Given the description of an element on the screen output the (x, y) to click on. 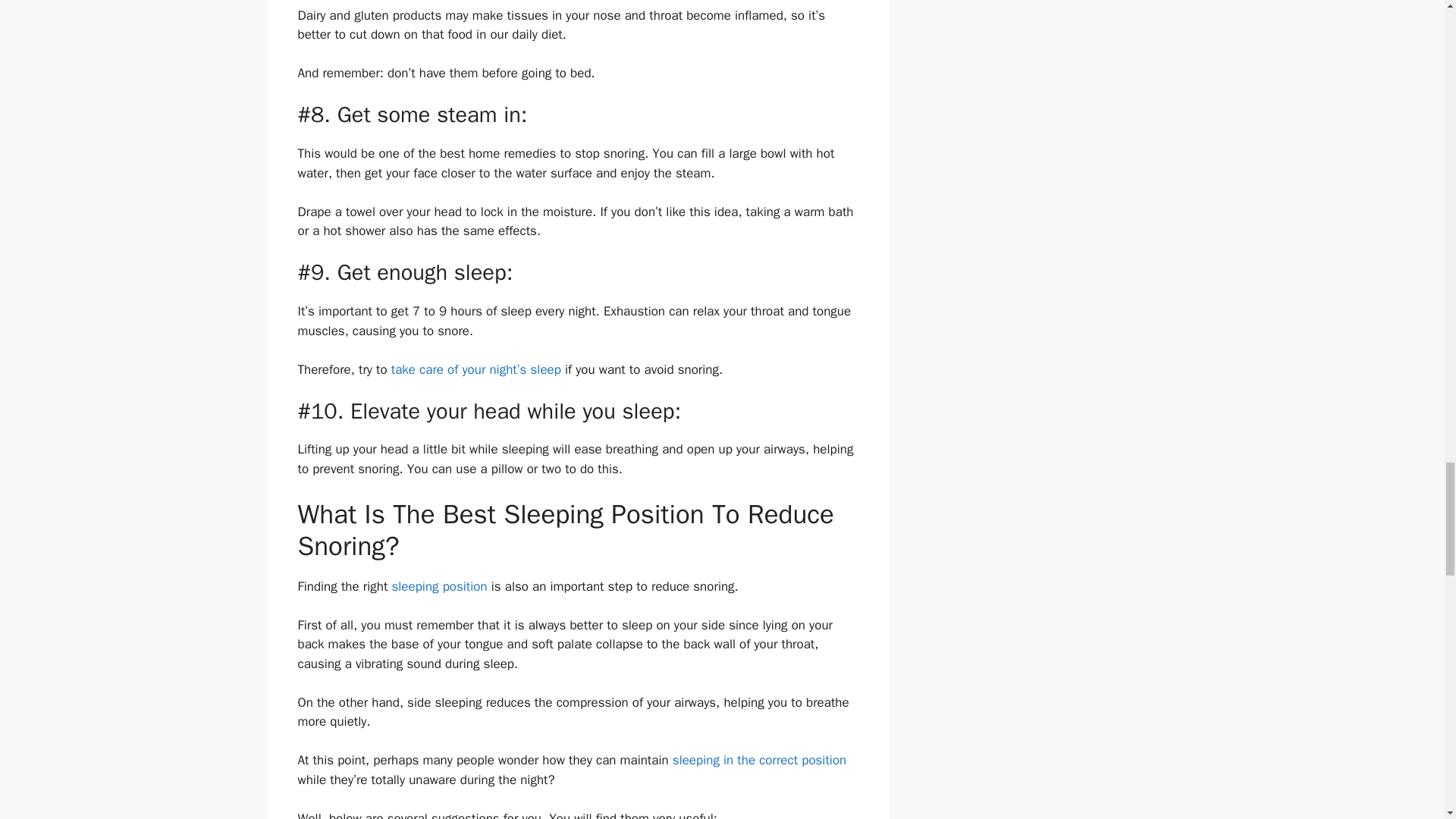
sleeping in the correct position (758, 760)
sleeping position (438, 586)
